Given the description of an element on the screen output the (x, y) to click on. 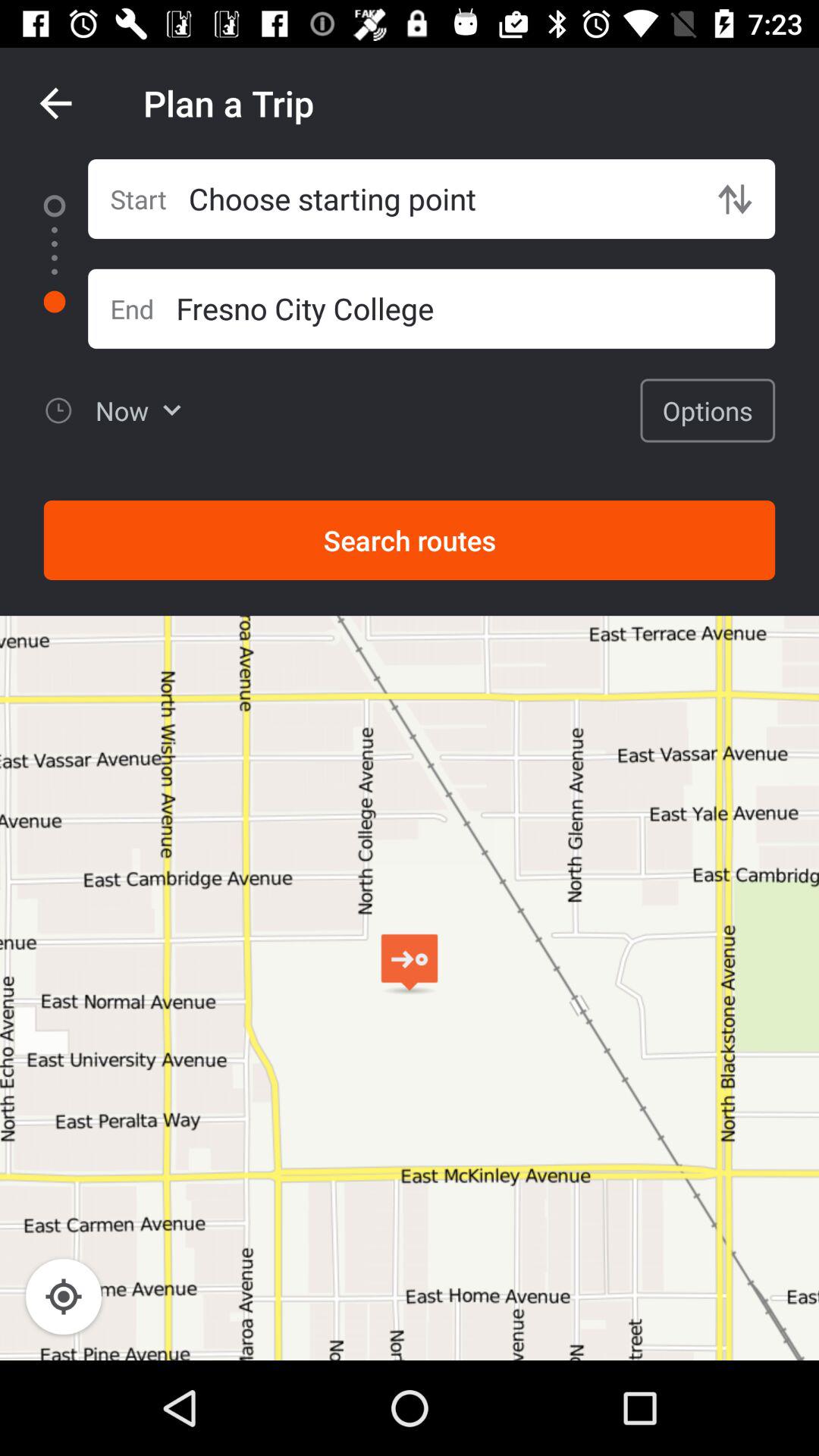
press the item below plan a trip icon (441, 198)
